Given the description of an element on the screen output the (x, y) to click on. 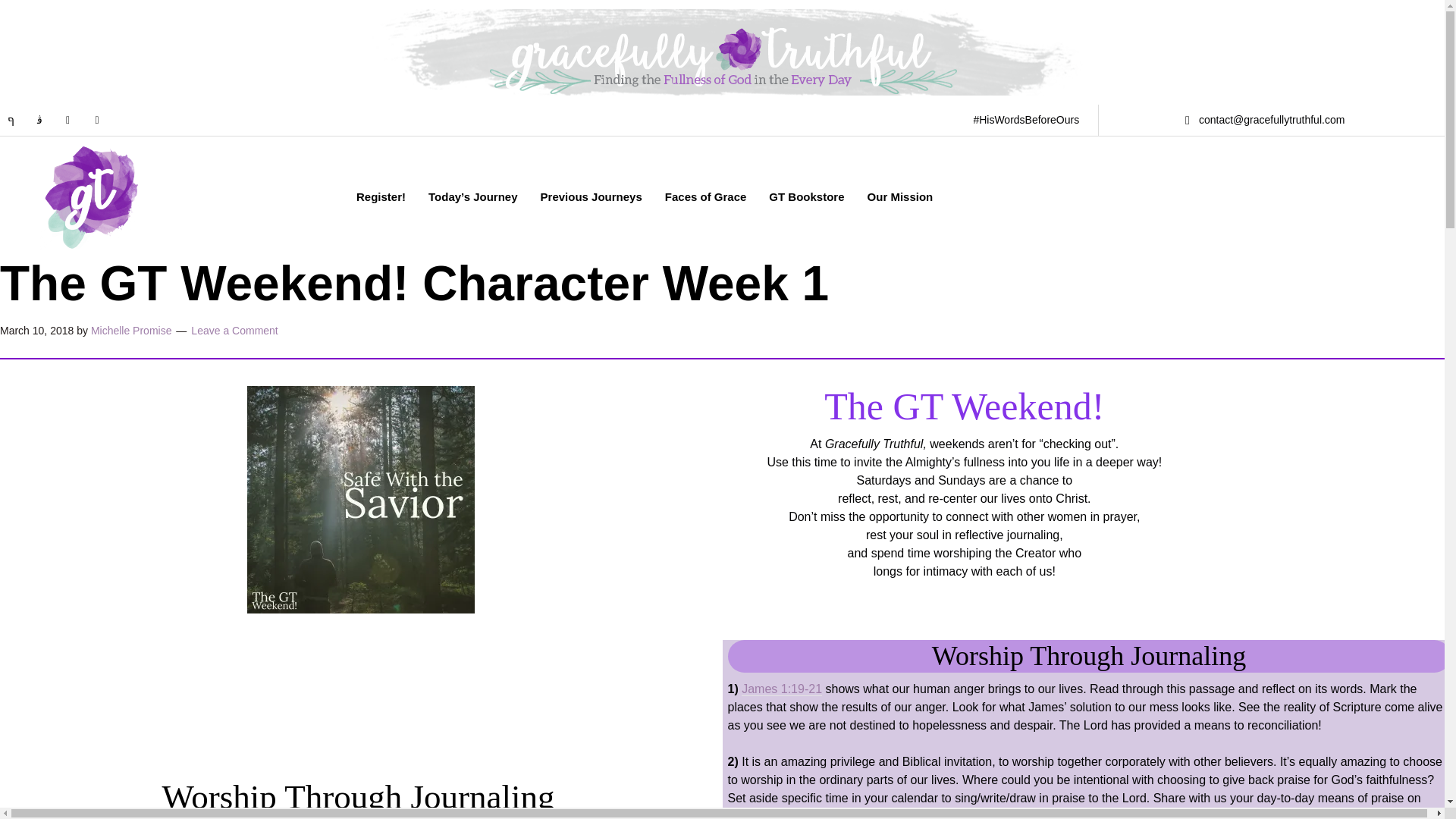
Our Mission (900, 196)
James 1:19-21 (781, 689)
Posts by Michelle Promise (130, 330)
Character Week 1 (360, 499)
Faces of Grace (705, 196)
Previous Journeys (591, 196)
GT Bookstore (806, 196)
Michelle Promise (130, 330)
Leave a Comment (234, 330)
Saturday, March 10, 2018, 3:00 am (37, 330)
